Given the description of an element on the screen output the (x, y) to click on. 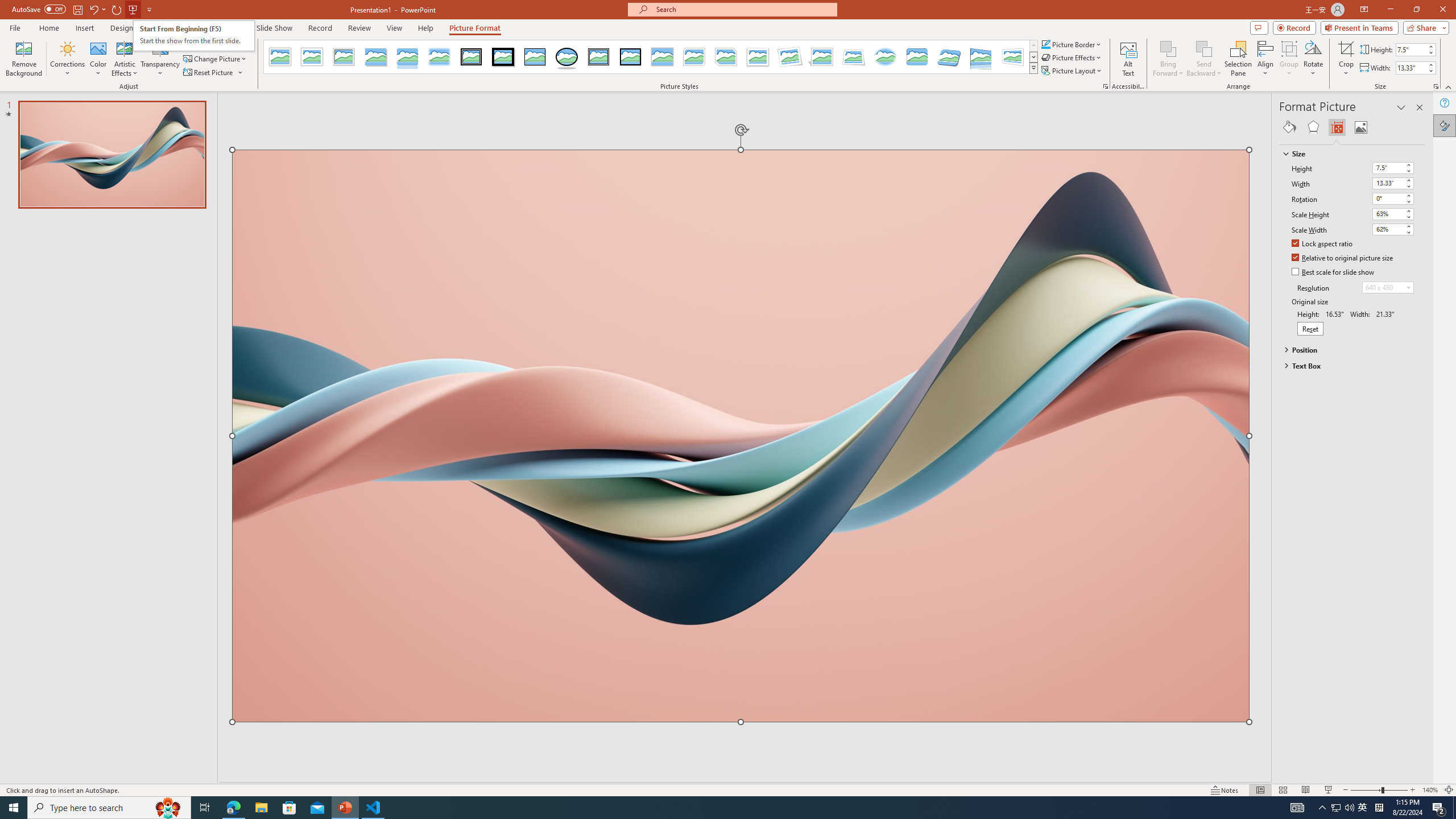
Align (1264, 58)
Beveled Matte, White (312, 56)
